Given the description of an element on the screen output the (x, y) to click on. 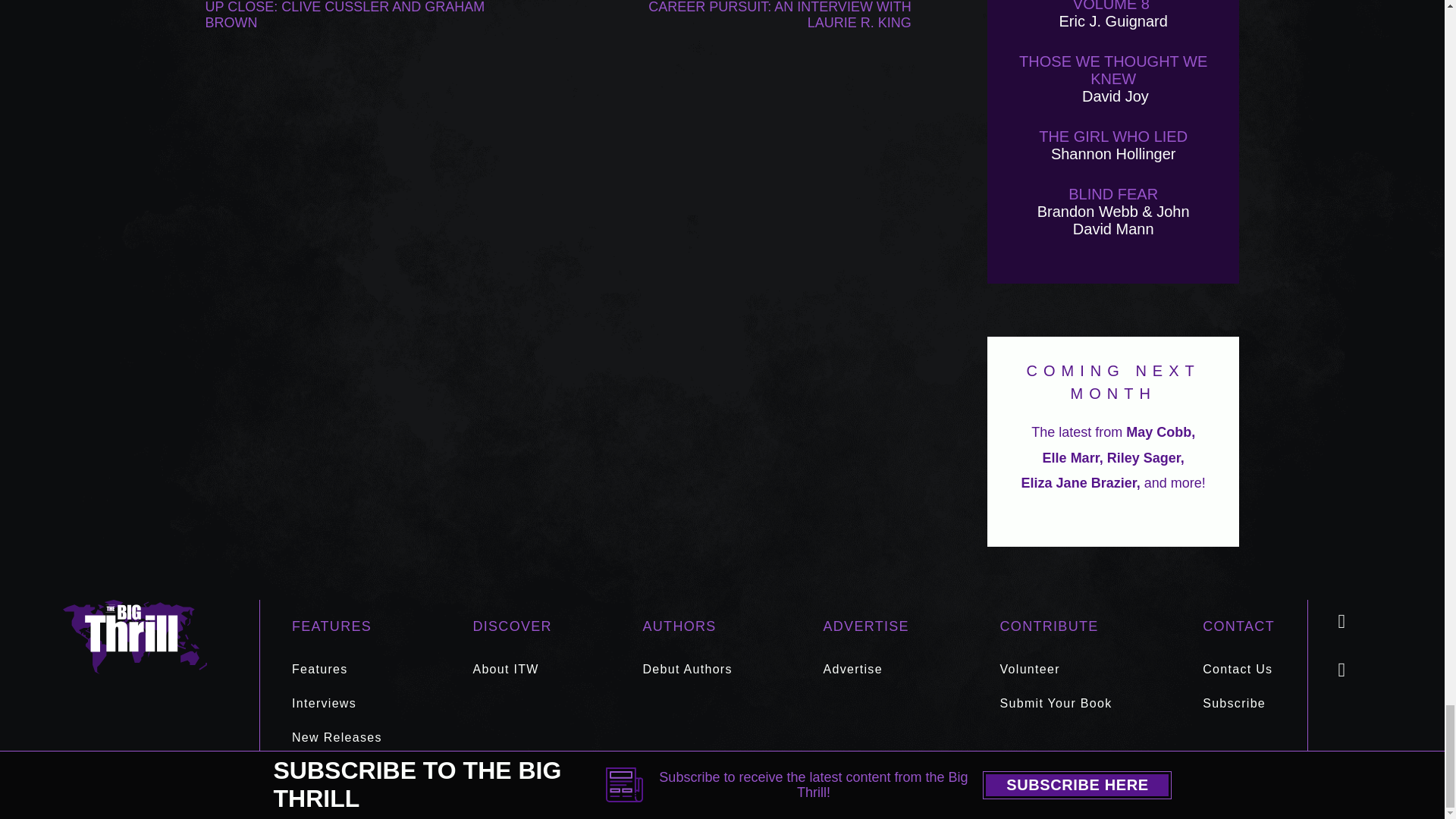
Up Close: Clive Cussler and Graham Brown (346, 15)
Career Pursuit: An Interview with Laurie R. King (769, 15)
